Given the description of an element on the screen output the (x, y) to click on. 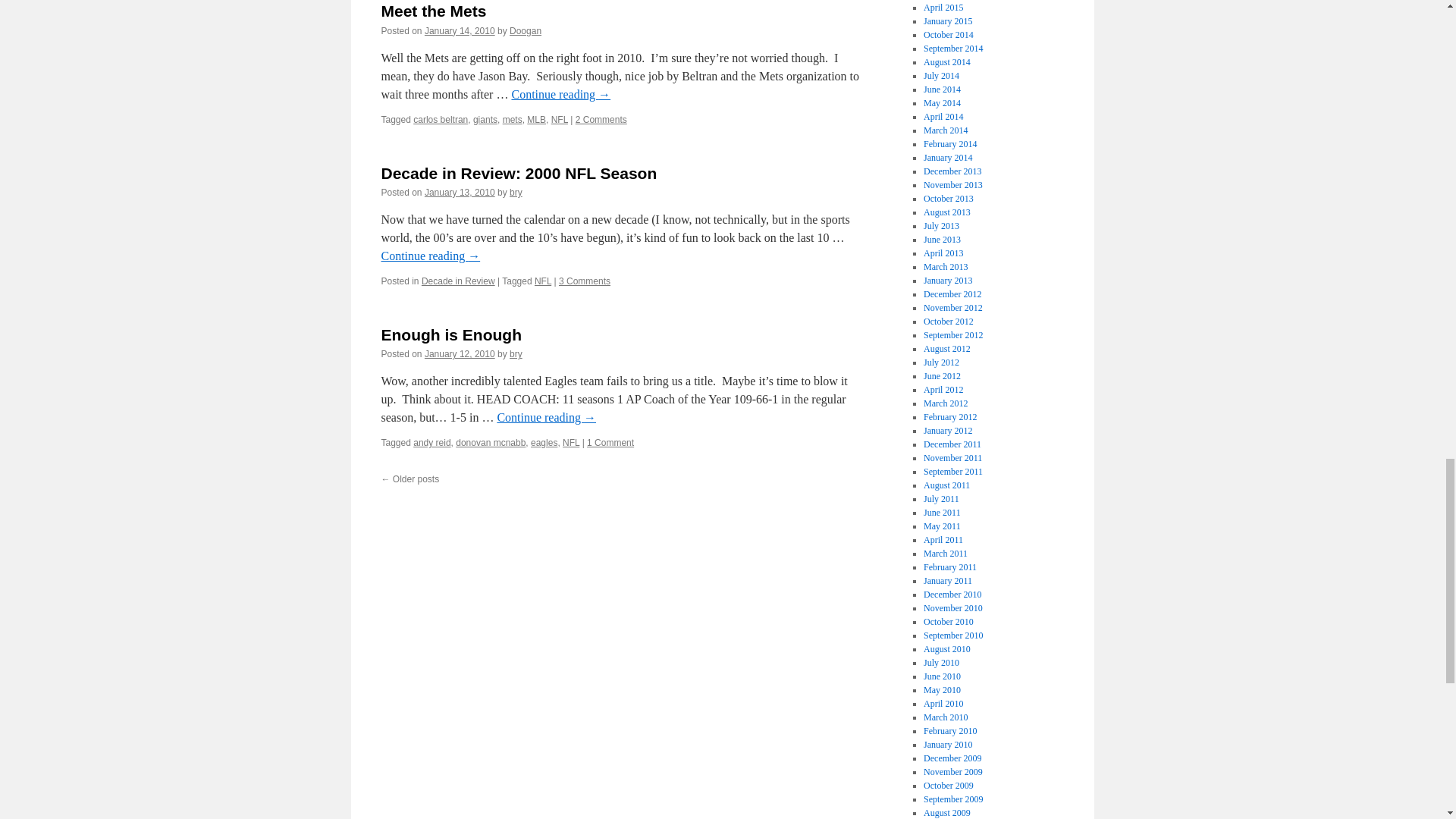
View all posts by Doogan (525, 30)
3:45 pm (460, 30)
4:41 pm (460, 192)
